Given the description of an element on the screen output the (x, y) to click on. 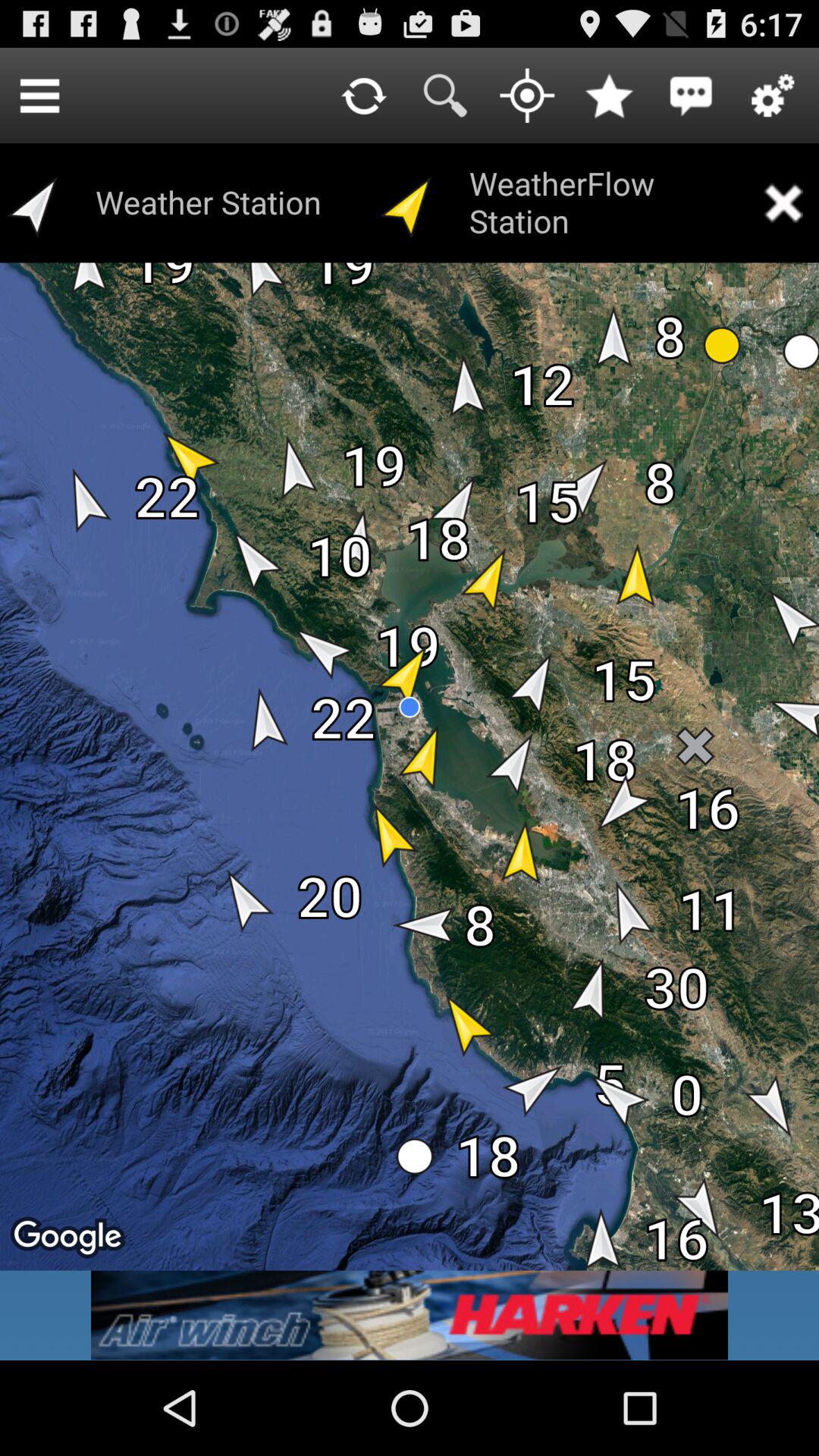
reload page (363, 95)
